Given the description of an element on the screen output the (x, y) to click on. 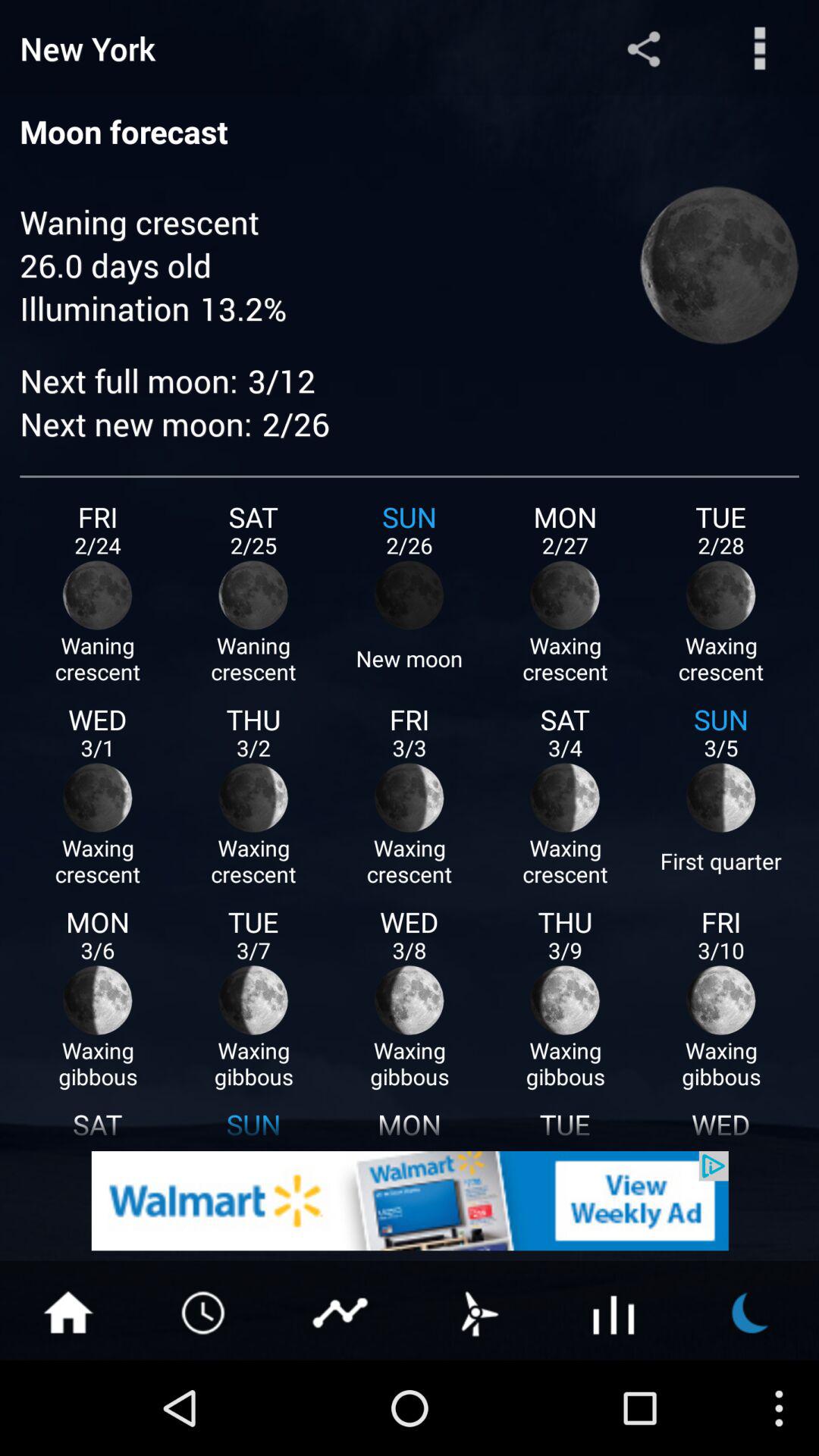
details about advertisement (409, 1200)
